Given the description of an element on the screen output the (x, y) to click on. 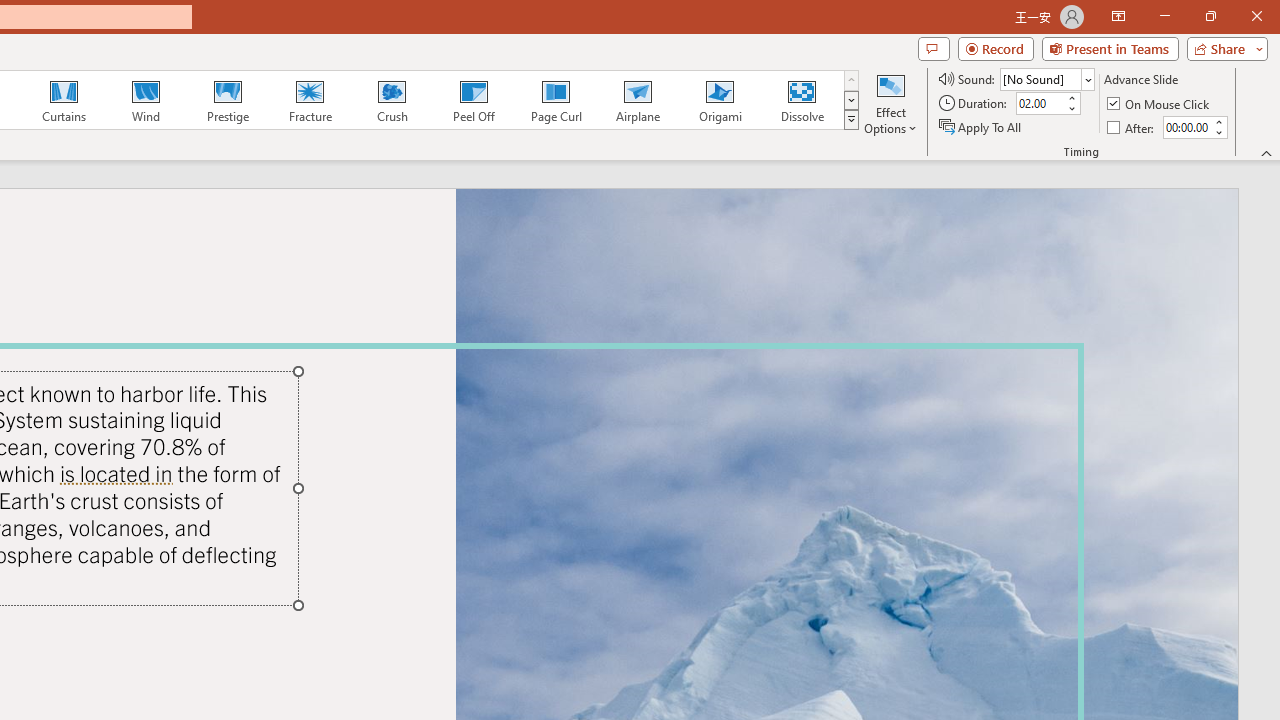
Origami (719, 100)
Fracture (309, 100)
Transition Effects (850, 120)
Dissolve (802, 100)
Crush (391, 100)
Prestige (227, 100)
